Given the description of an element on the screen output the (x, y) to click on. 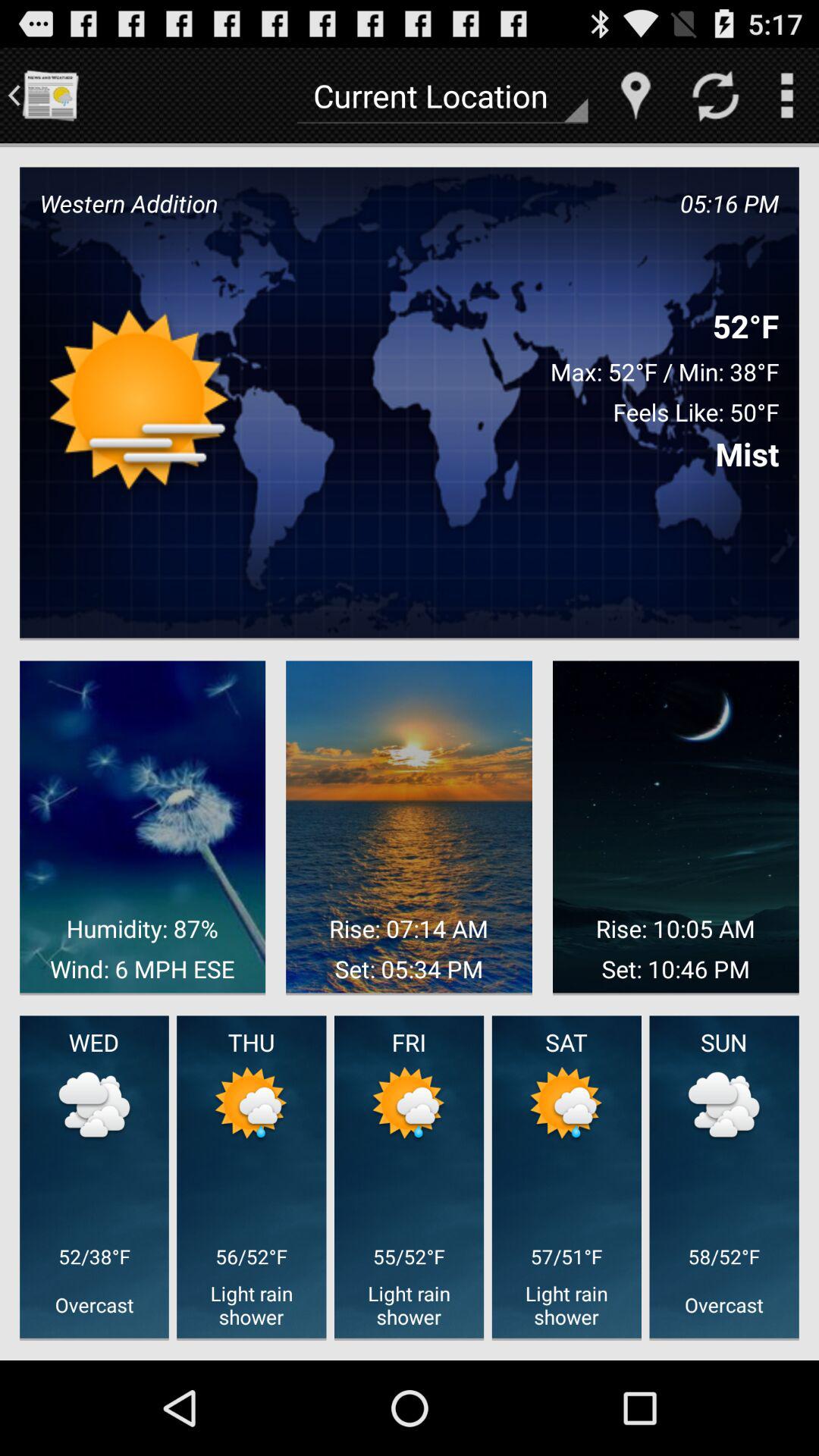
gps location (635, 95)
